Given the description of an element on the screen output the (x, y) to click on. 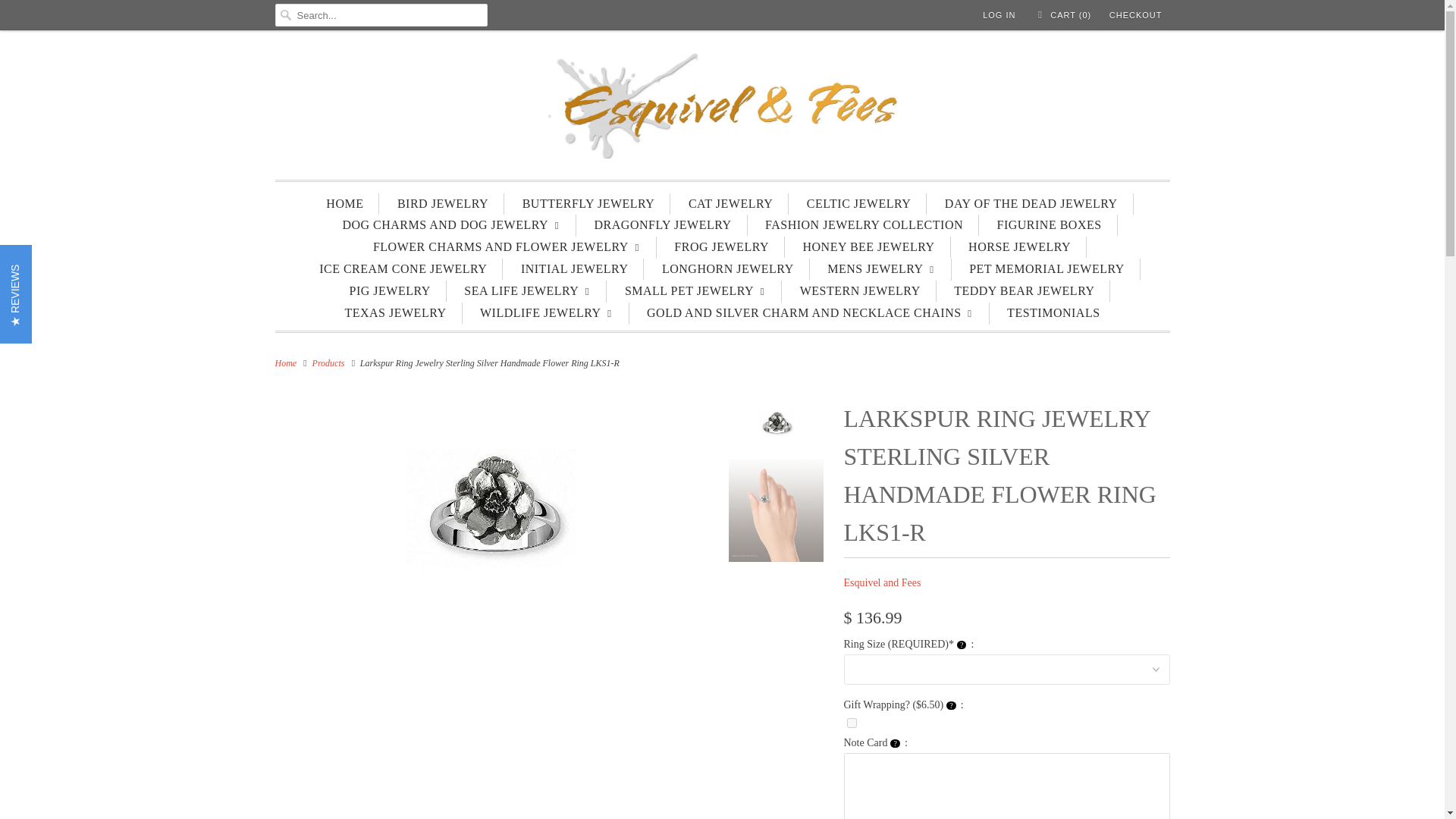
Esquivel And Fees (286, 362)
CHECKOUT (1135, 15)
LOG IN (998, 15)
Products (329, 362)
Esquivel And Fees (721, 108)
Esquivel and Fees (881, 582)
